Given the description of an element on the screen output the (x, y) to click on. 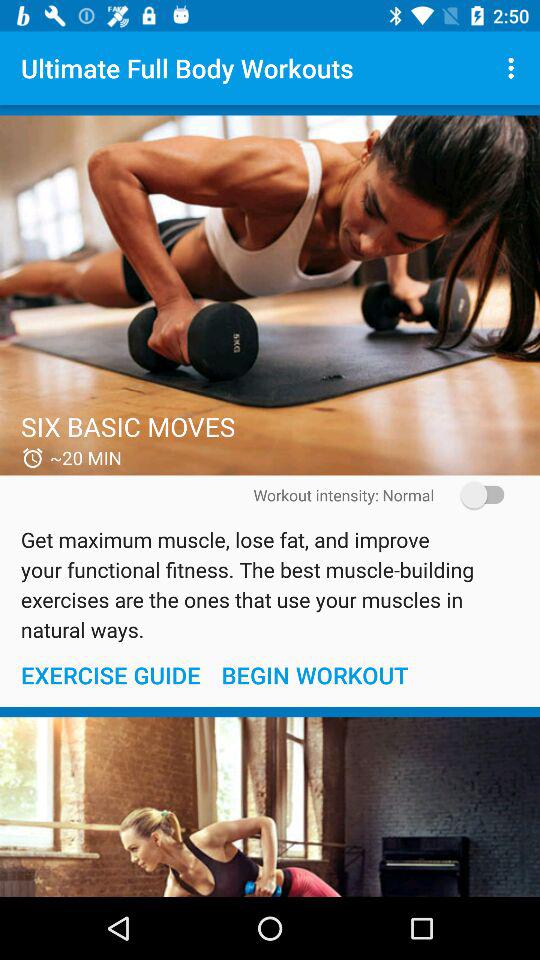
turn on item below get maximum muscle item (314, 674)
